Given the description of an element on the screen output the (x, y) to click on. 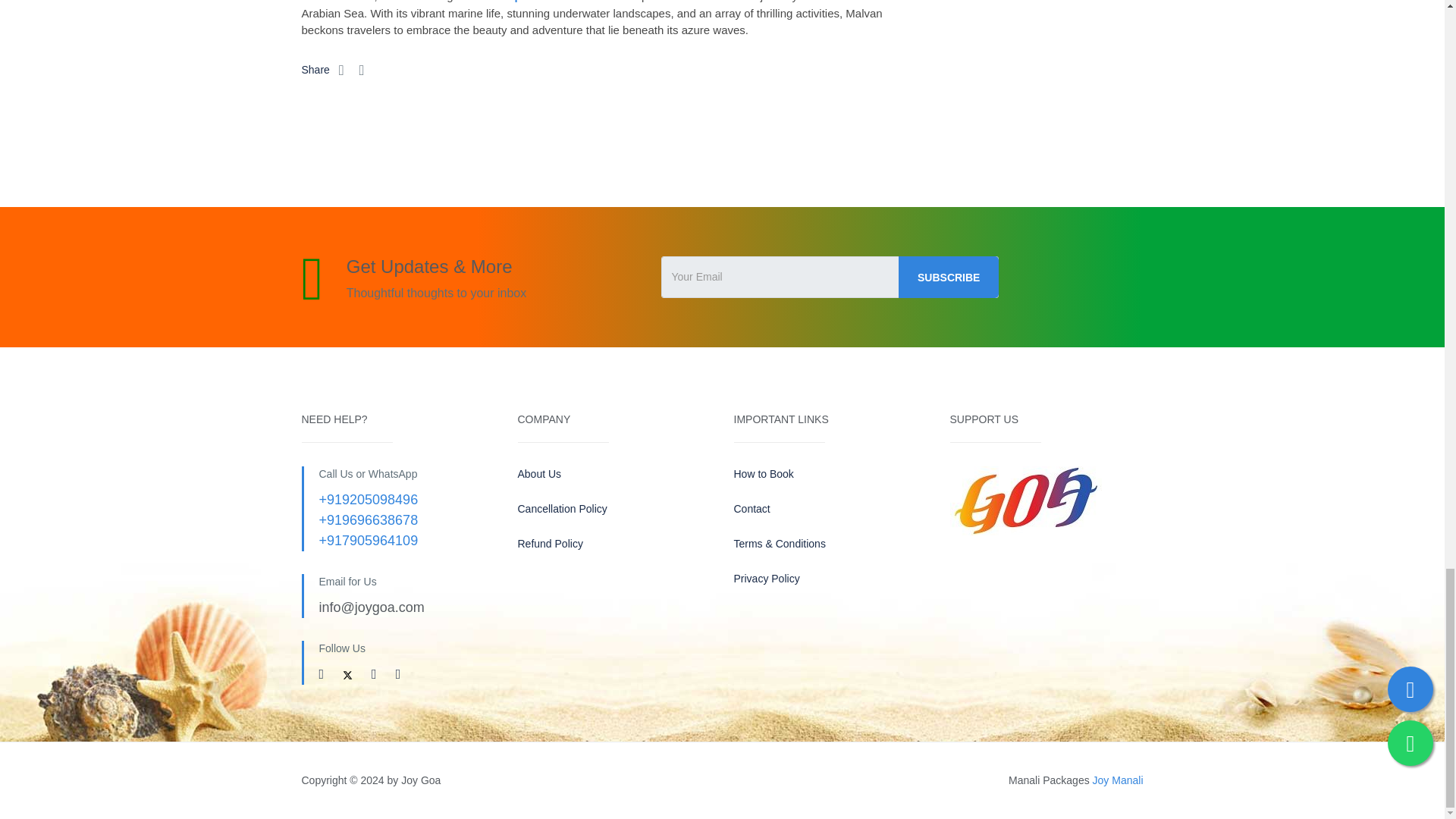
watersports combo in Malvan (559, 1)
